Given the description of an element on the screen output the (x, y) to click on. 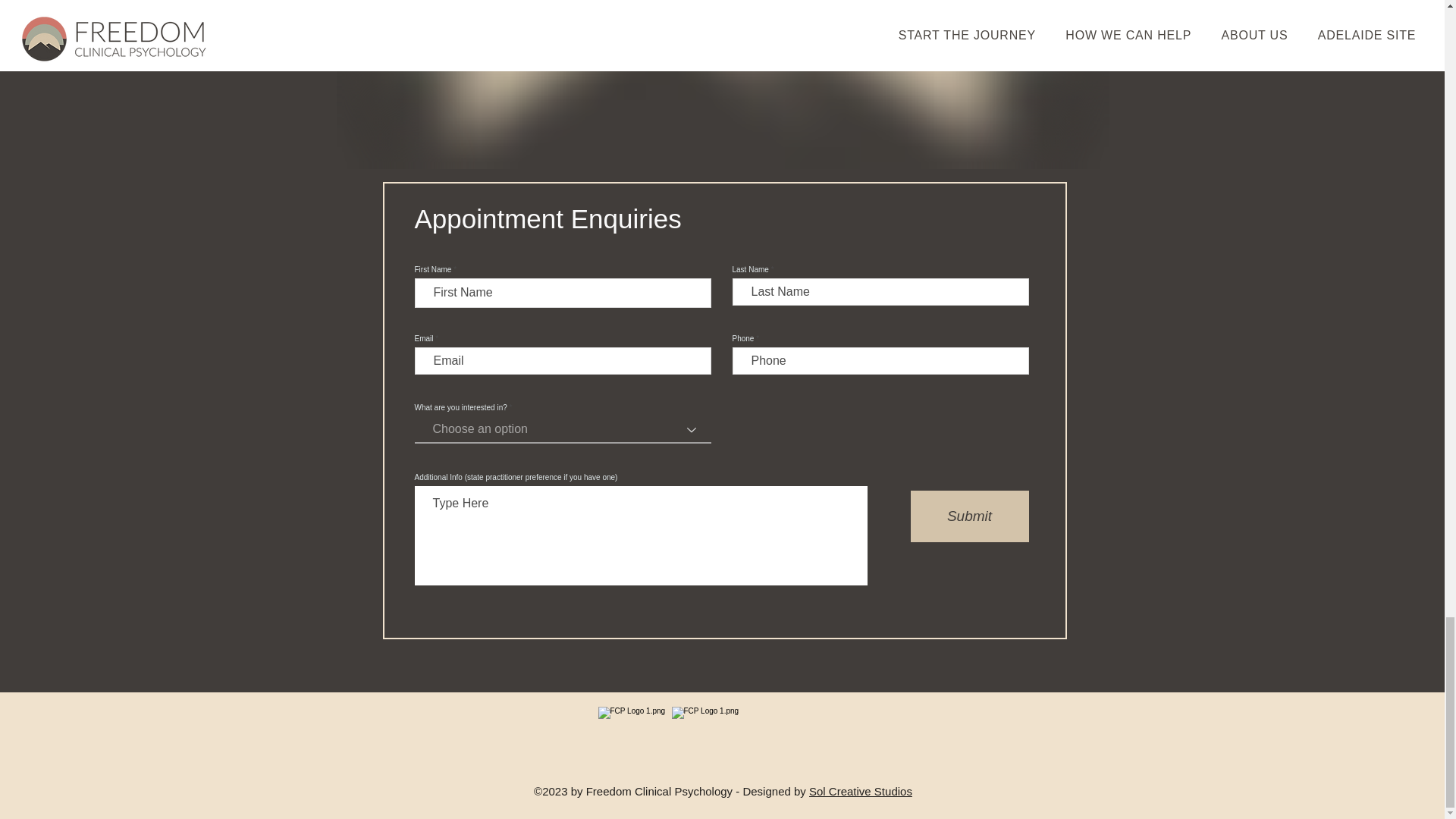
LOGO SYMBOL.png (722, 84)
Submit (968, 516)
FCP Logo 1.png (633, 741)
Sol Creative Studios (860, 790)
FCP Logo 1.png (759, 741)
